Given the description of an element on the screen output the (x, y) to click on. 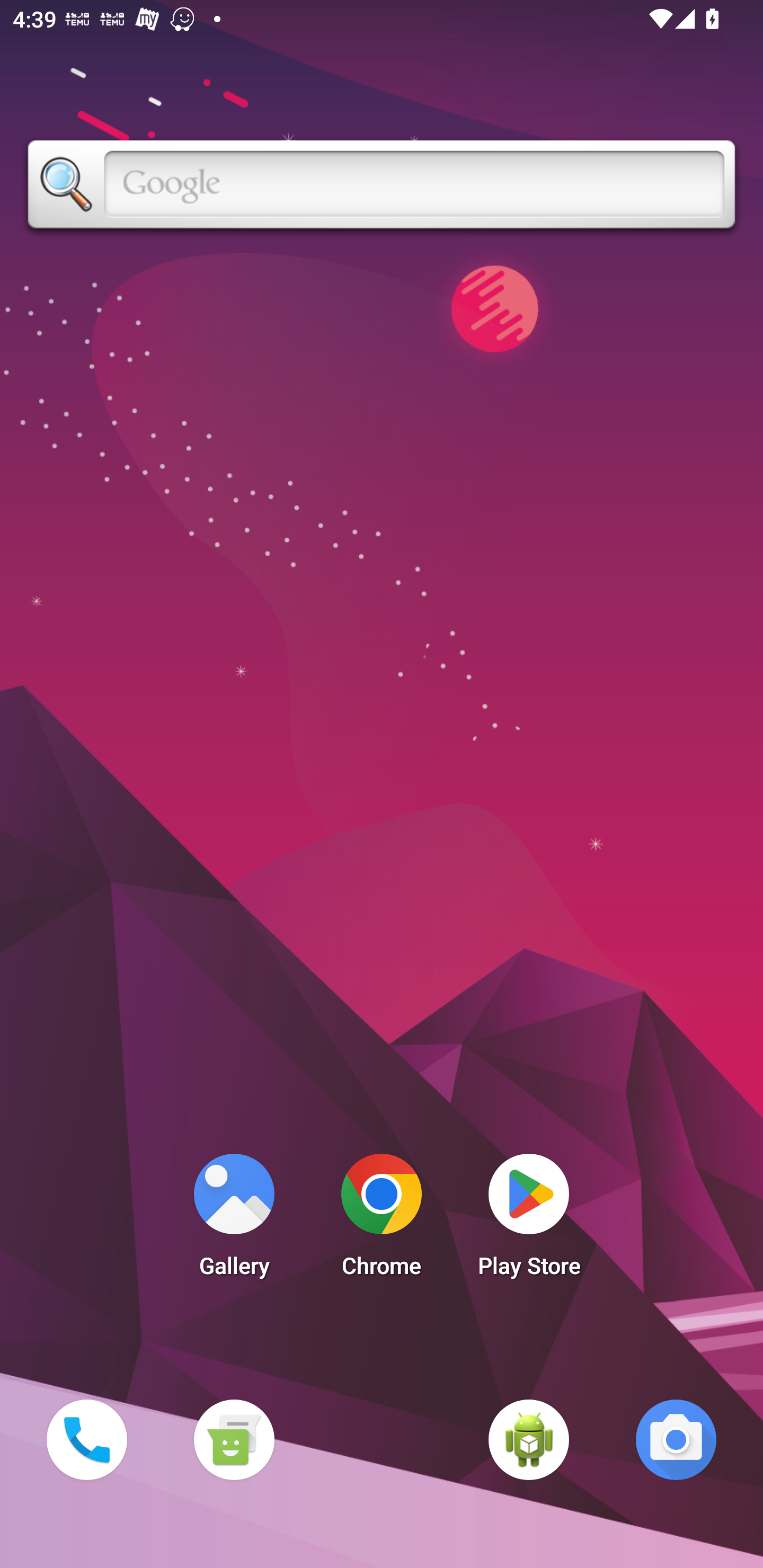
Gallery (233, 1220)
Chrome (381, 1220)
Play Store (528, 1220)
Phone (86, 1439)
Messaging (233, 1439)
WebView Browser Tester (528, 1439)
Camera (676, 1439)
